Given the description of an element on the screen output the (x, y) to click on. 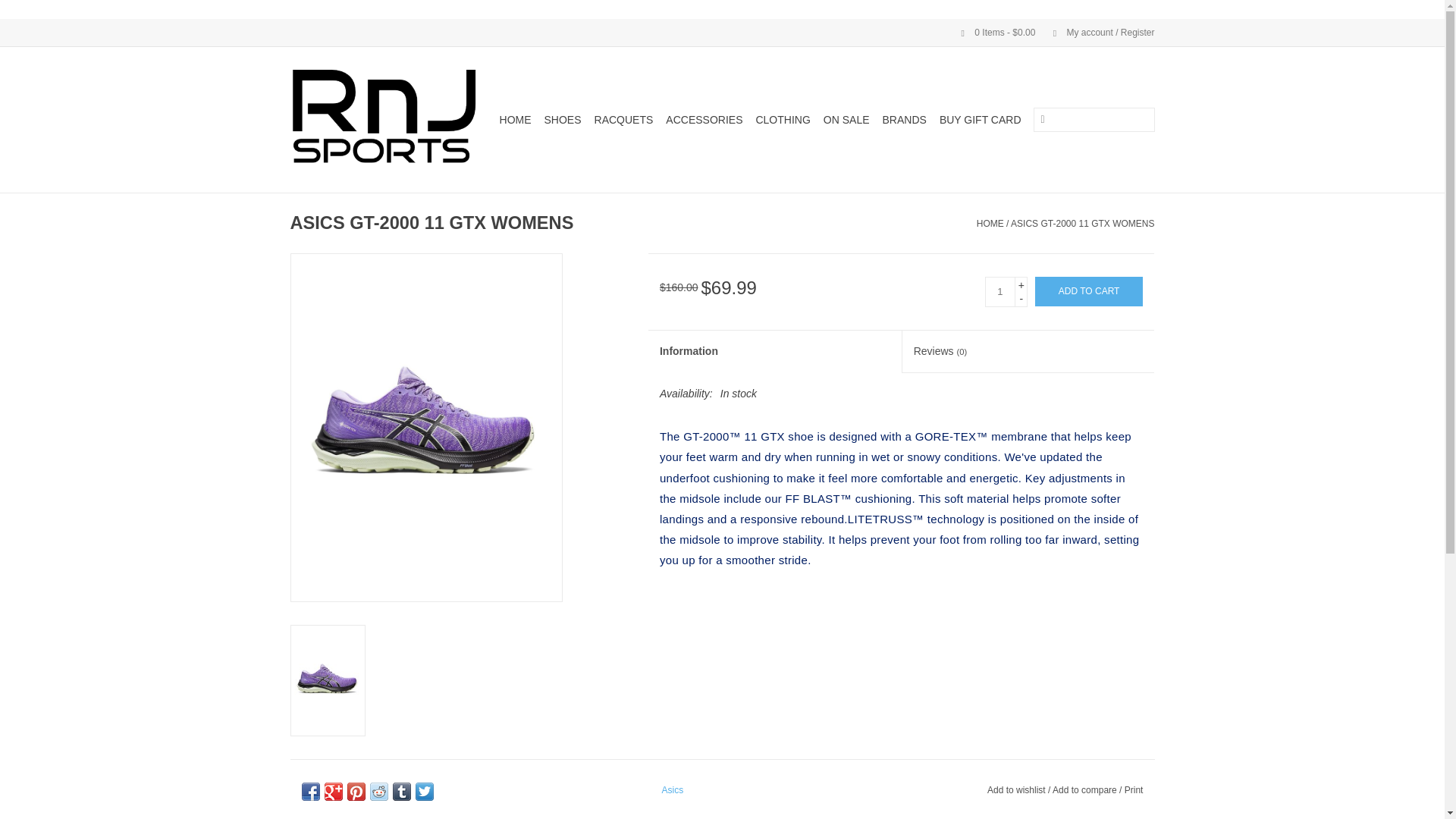
Cart (992, 32)
RACQUETS (623, 119)
HOME (515, 119)
My account (1096, 32)
Shoes (563, 119)
Search (1041, 120)
RnJ Sports (384, 119)
SHOES (563, 119)
1 (999, 291)
ACCESSORIES (703, 119)
